Given the description of an element on the screen output the (x, y) to click on. 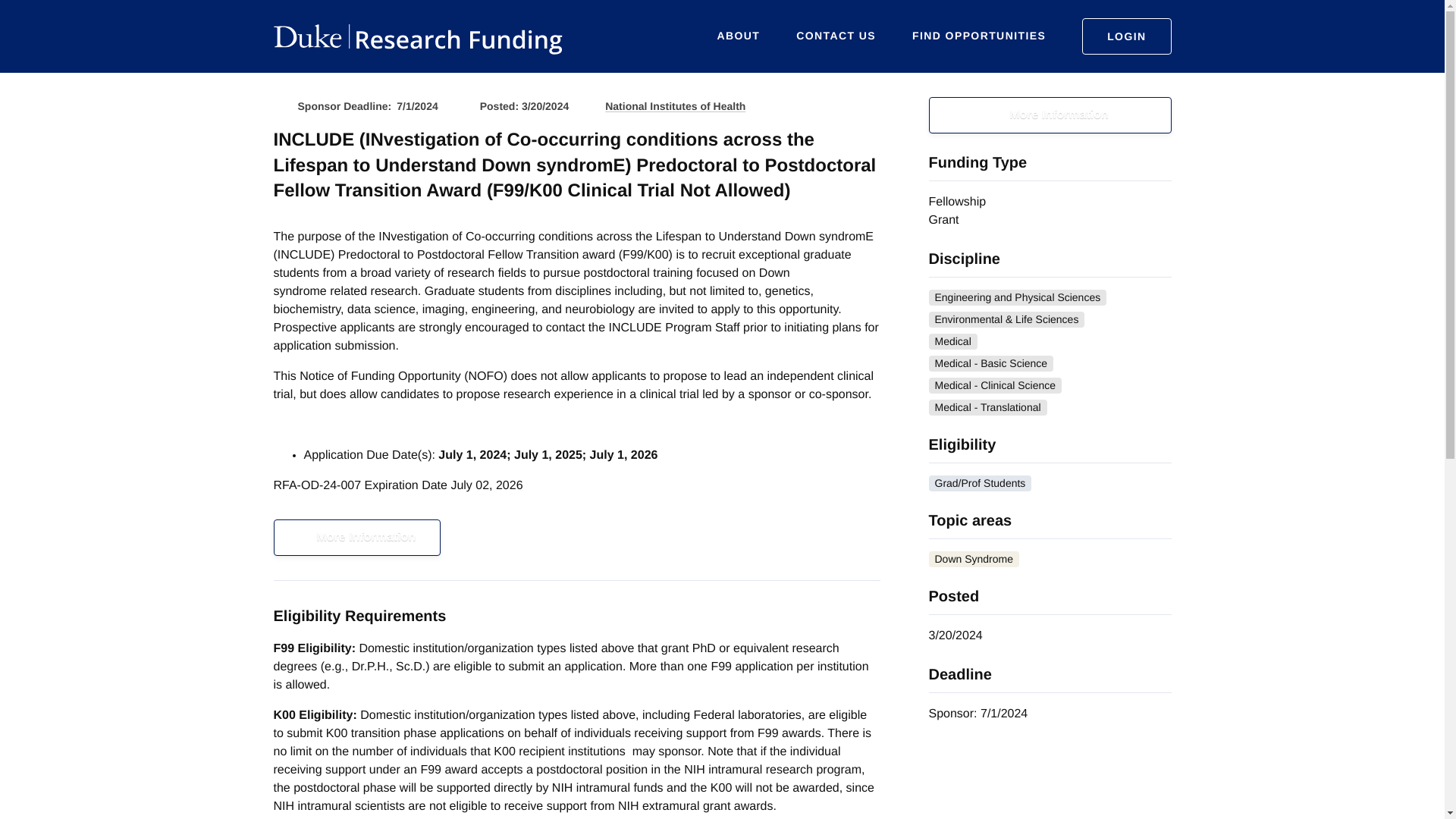
Grant (943, 219)
More Information (357, 537)
CONTACT US (836, 35)
Medical - Basic Science (990, 363)
Engineering and Physical Sciences (1017, 297)
Medical - Translational (987, 407)
Medical (952, 341)
LOGIN (1125, 36)
Fellowship (956, 201)
